Given the description of an element on the screen output the (x, y) to click on. 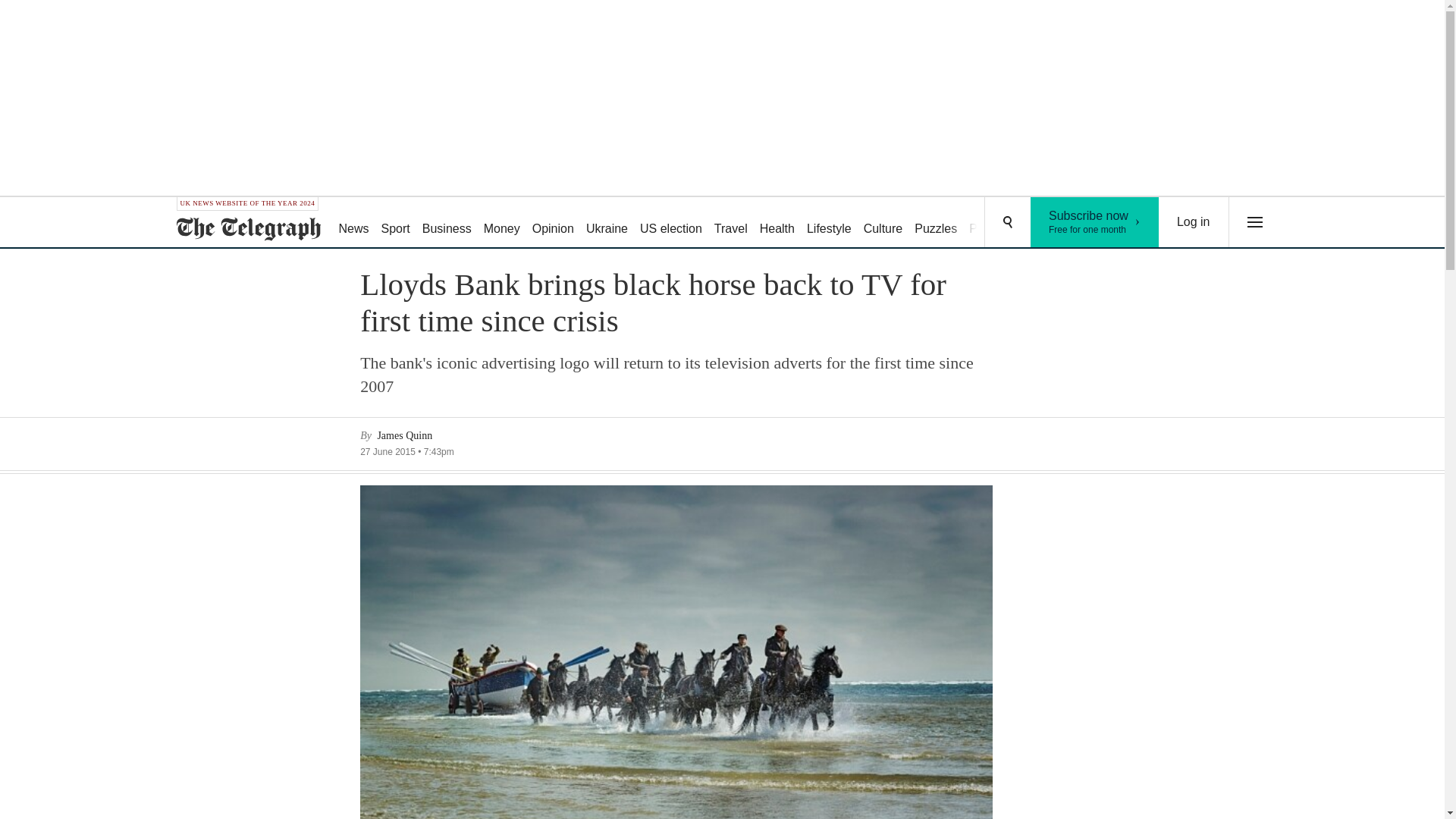
Opinion (552, 223)
Ukraine (606, 223)
Podcasts (993, 223)
Lifestyle (1094, 222)
US election (828, 223)
Health (670, 223)
Culture (777, 223)
Business (882, 223)
Money (446, 223)
